Given the description of an element on the screen output the (x, y) to click on. 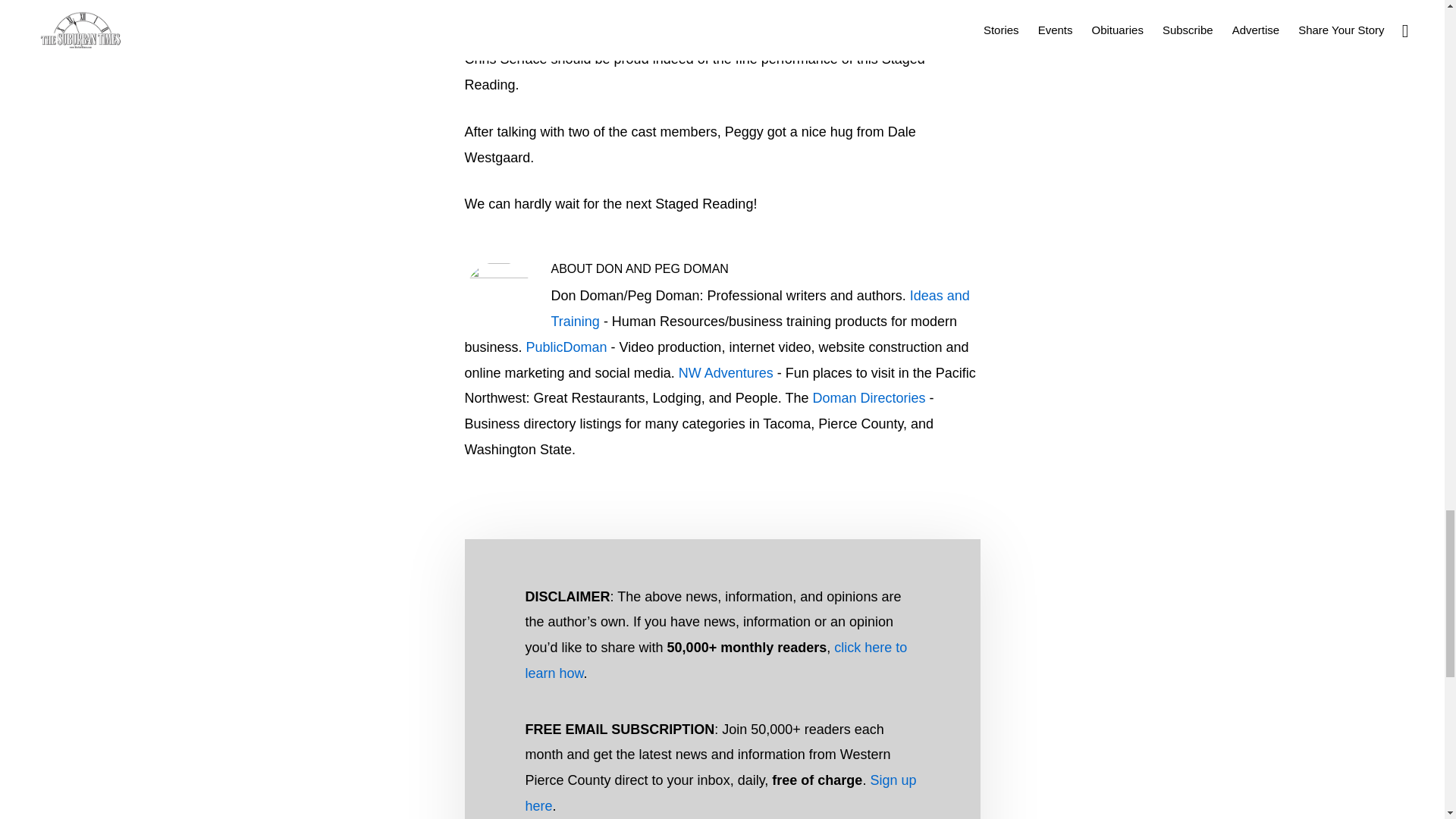
Sign up here (719, 793)
Doman Directories (868, 397)
PublicDoman (566, 346)
NW Adventures (725, 372)
click here to learn how (715, 659)
Ideas and Training (759, 308)
